Given the description of an element on the screen output the (x, y) to click on. 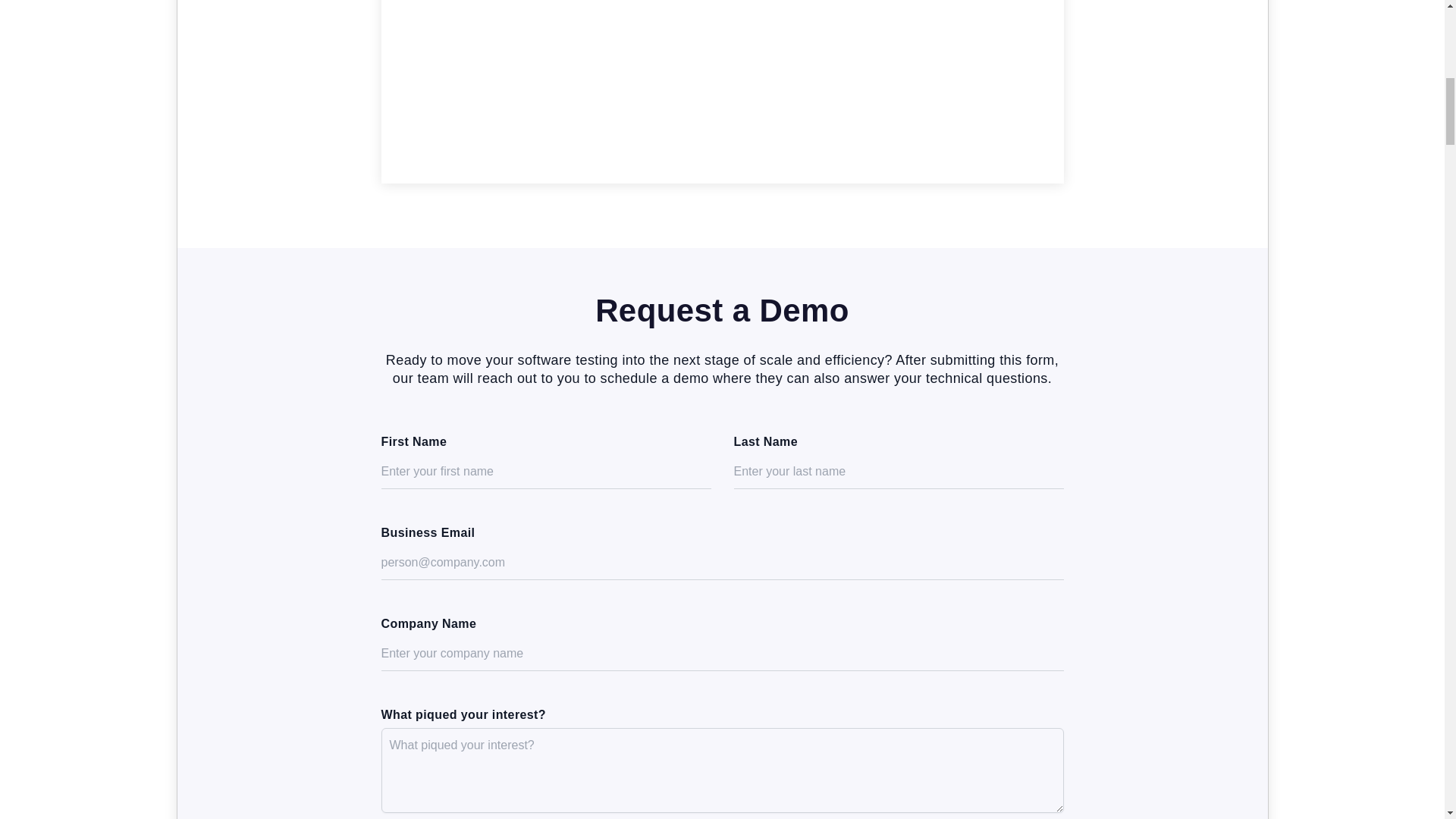
YouTube video player (721, 91)
